Given the description of an element on the screen output the (x, y) to click on. 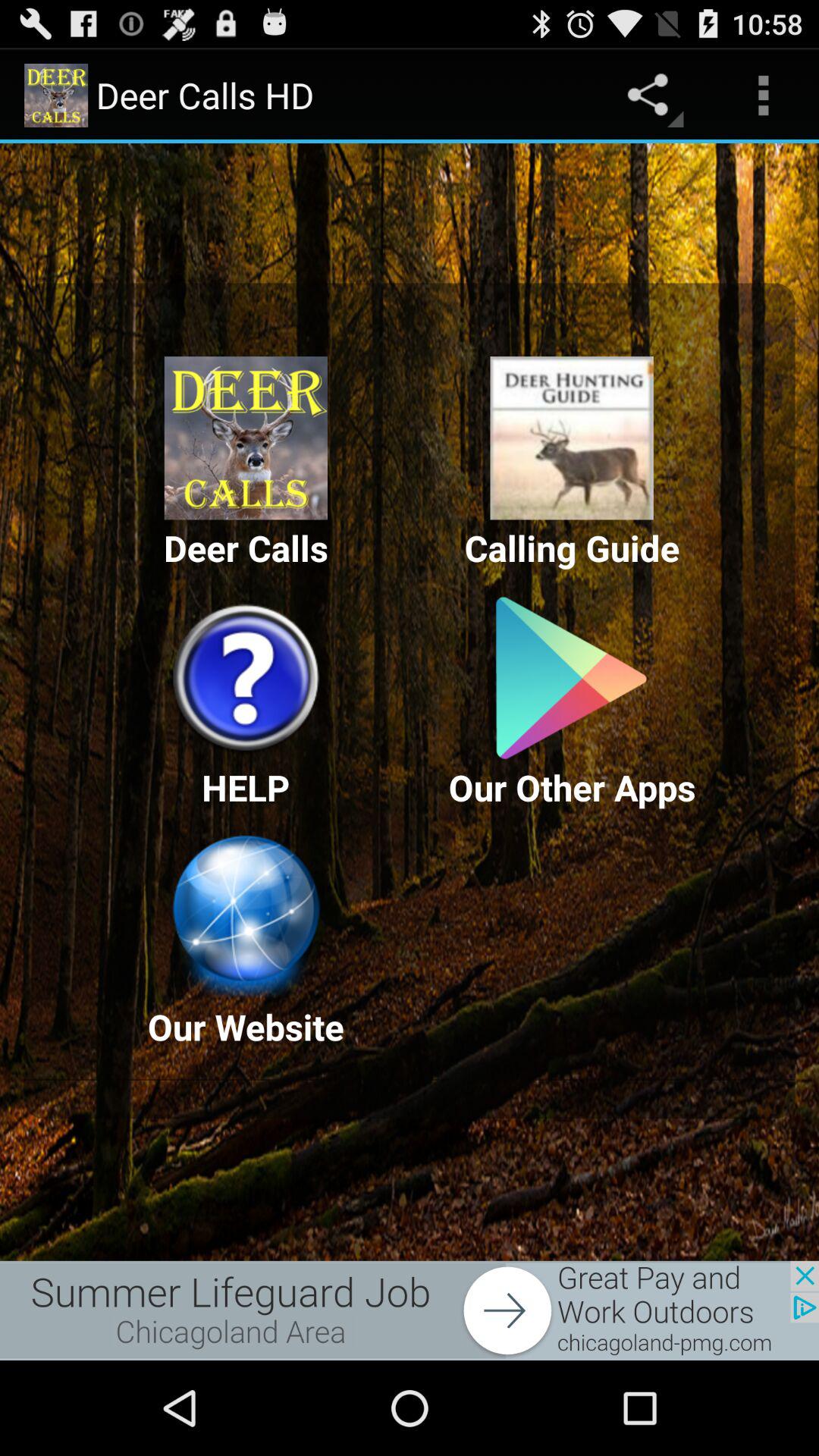
advertisement (409, 1310)
